Given the description of an element on the screen output the (x, y) to click on. 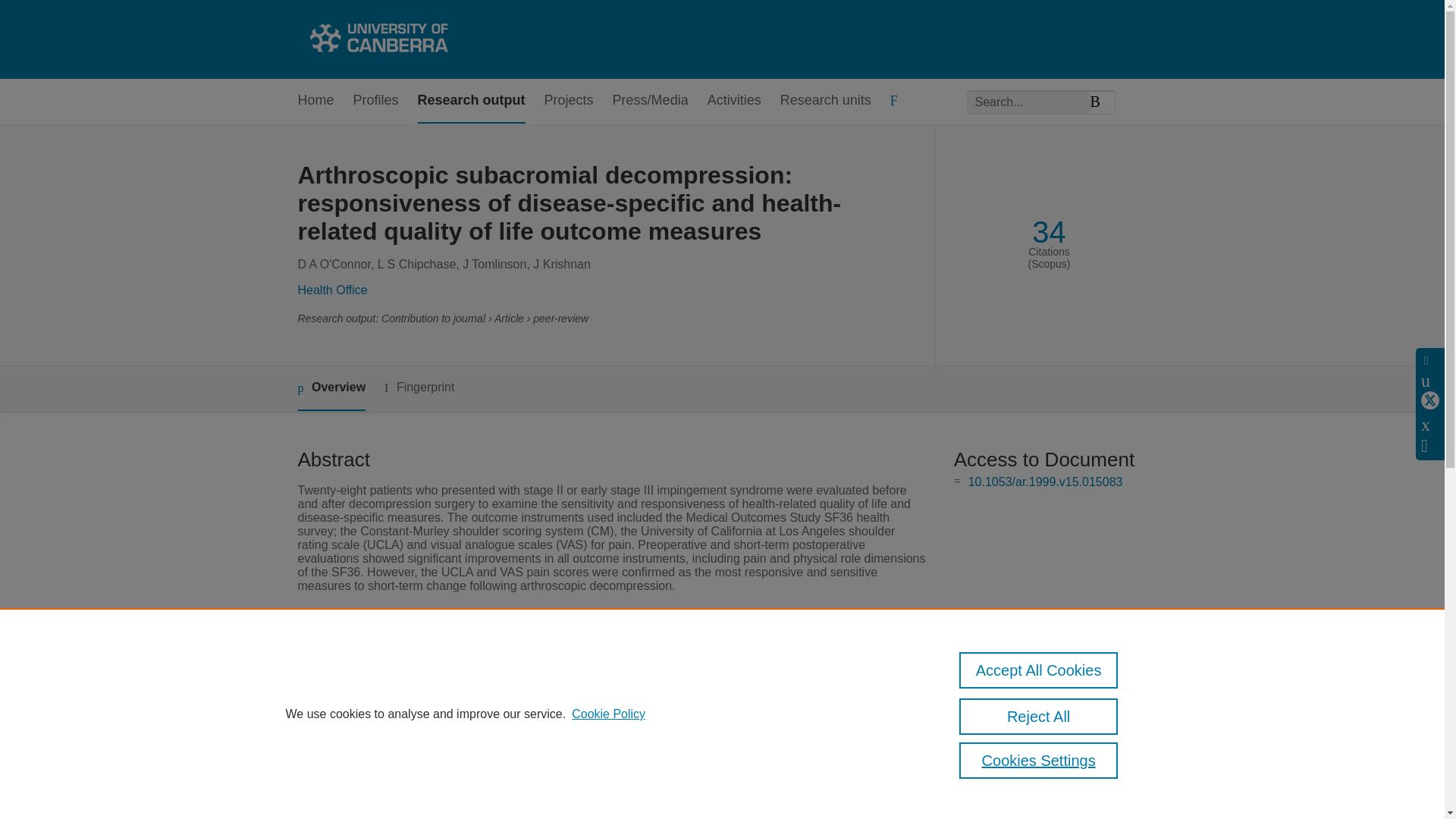
Fingerprint (419, 387)
Activities (734, 100)
Research output (471, 100)
34 (1048, 232)
Profiles (375, 100)
Overview (331, 388)
University of Canberra Research Portal Home (377, 39)
Research units (825, 100)
Arthroscopy - Journal of Arthroscopic and Related Surgery (660, 676)
